Given the description of an element on the screen output the (x, y) to click on. 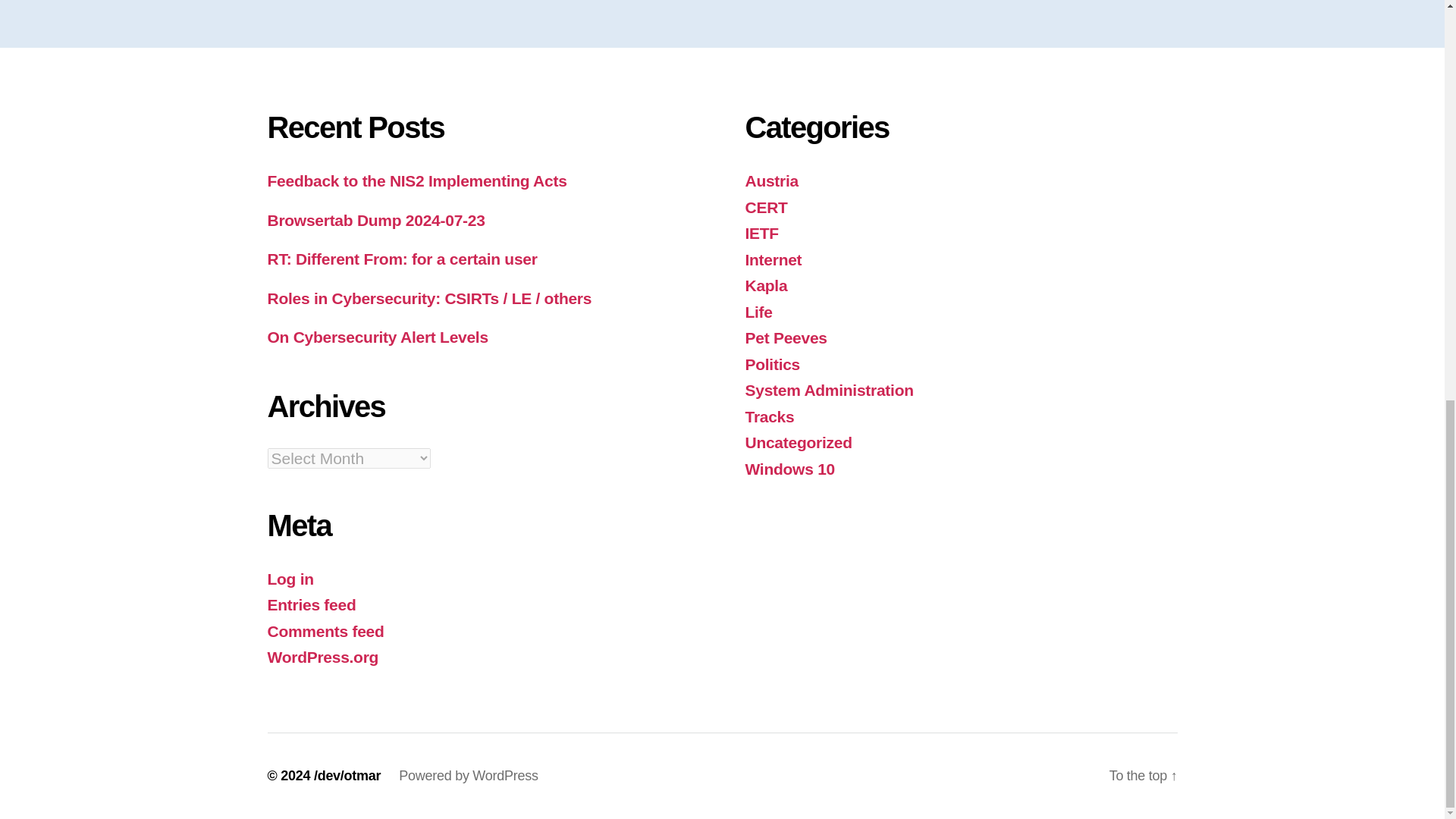
WordPress.org (322, 656)
Uncategorized (797, 442)
Politics (771, 364)
Kapla (765, 285)
Browsertab Dump 2024-07-23 (375, 220)
Tracks (768, 416)
System Administration (828, 389)
RT: Different From: for a certain user (401, 258)
Pet Peeves (785, 337)
Life (757, 312)
